Given the description of an element on the screen output the (x, y) to click on. 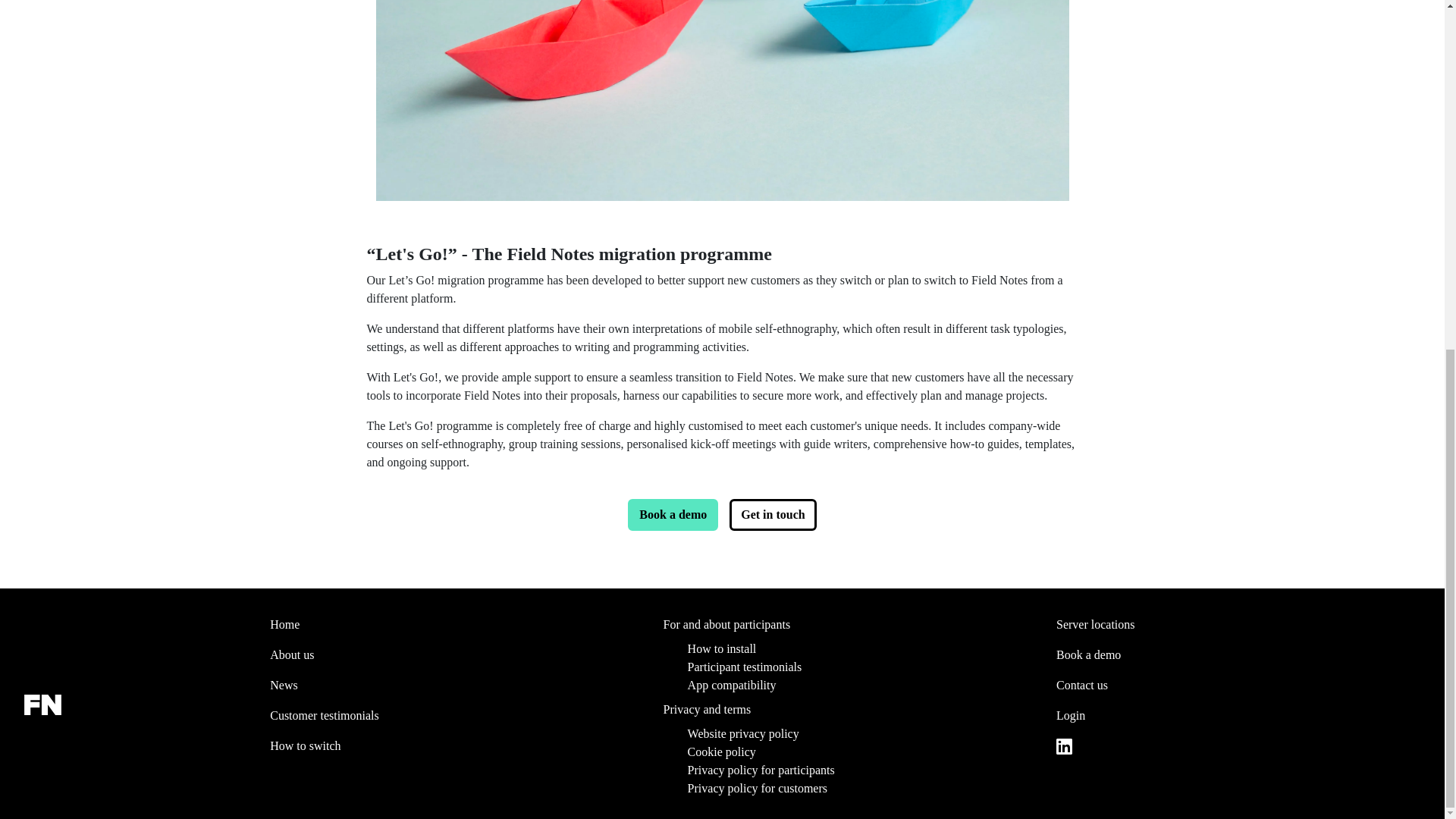
Get in touch (772, 514)
Home (451, 624)
Website privacy policy (857, 733)
How to install (857, 648)
How to switch (451, 746)
Book a demo (672, 514)
Privacy policy for customers (857, 788)
News (451, 685)
Participant testimonials (857, 667)
Login (1239, 716)
App compatibility (857, 685)
Book a demo (1239, 654)
Privacy and terms (845, 709)
Cookie policy (857, 751)
Server locations (1239, 624)
